Given the description of an element on the screen output the (x, y) to click on. 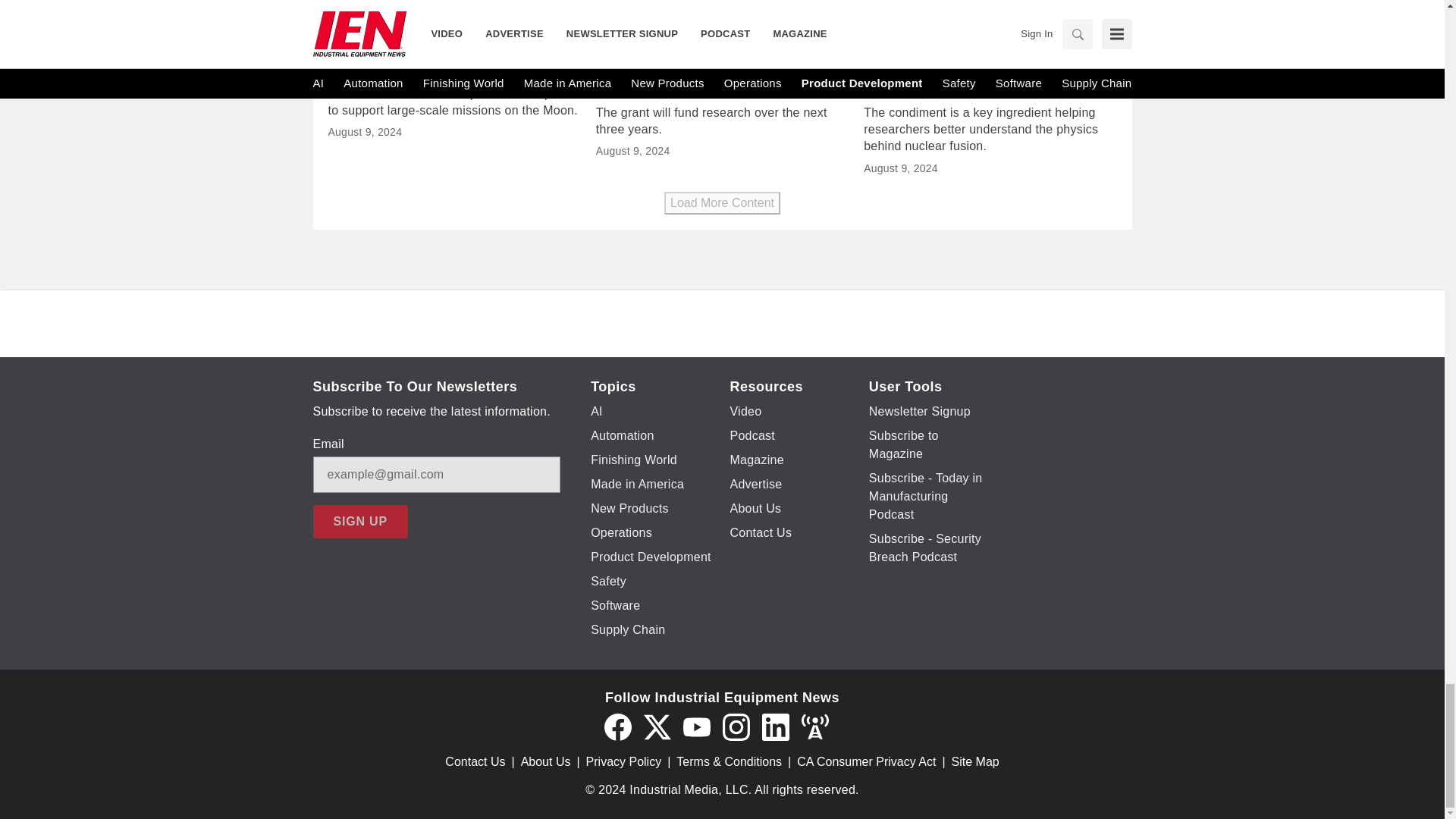
Instagram icon (735, 727)
LinkedIn icon (775, 727)
YouTube icon (696, 727)
Twitter X icon (656, 727)
Facebook icon (617, 727)
